Given the description of an element on the screen output the (x, y) to click on. 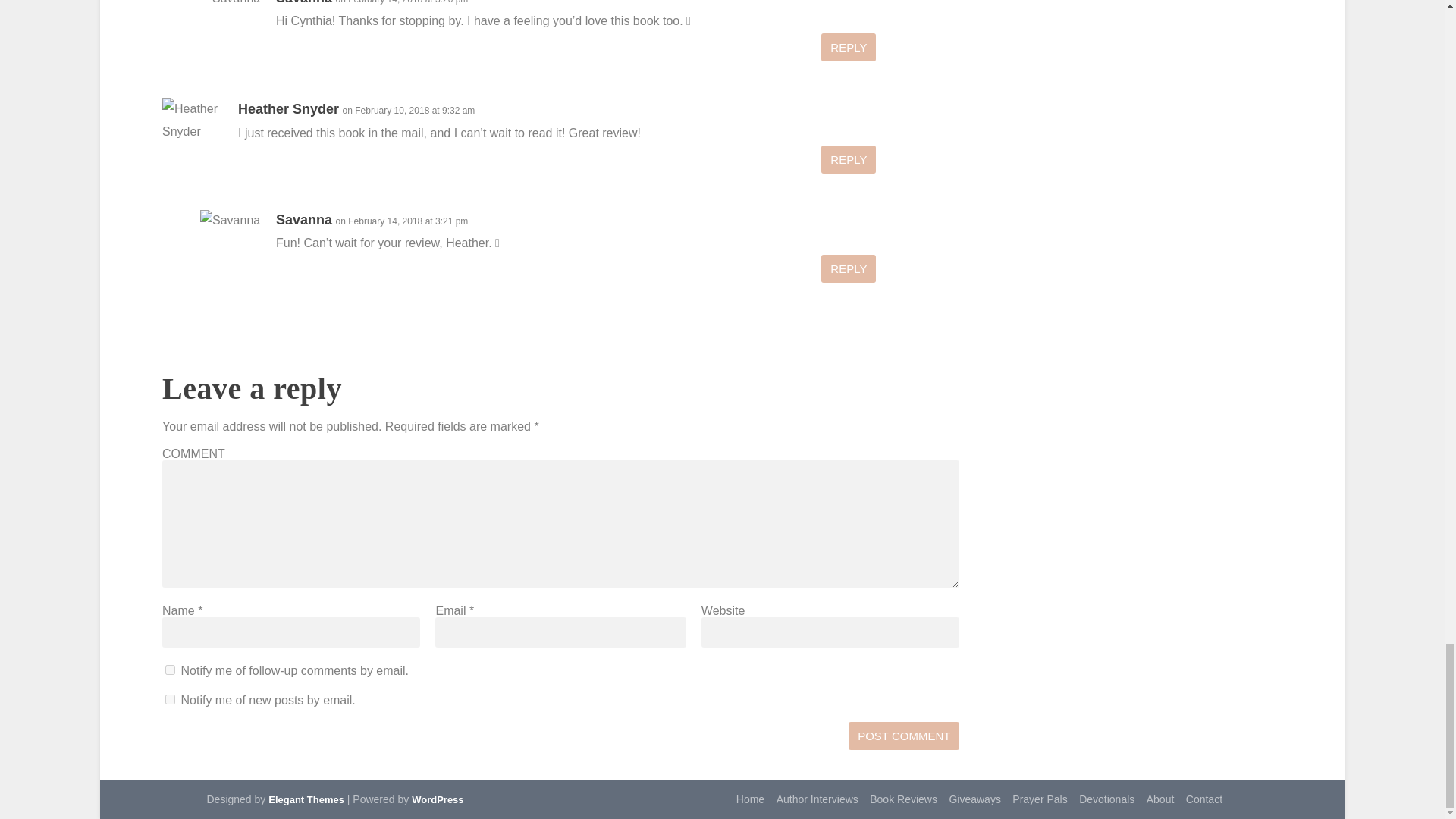
Post Comment (903, 735)
subscribe (169, 669)
subscribe (169, 699)
